Given the description of an element on the screen output the (x, y) to click on. 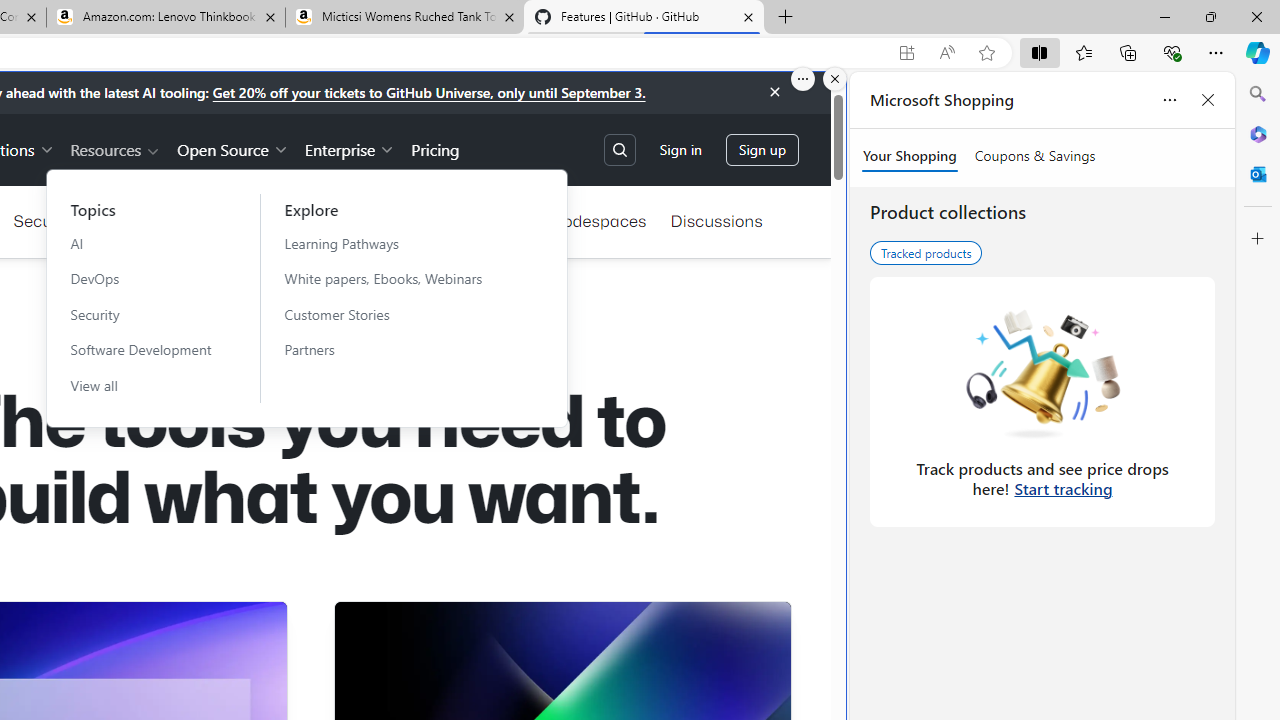
Codespaces (598, 220)
App available. Install  (906, 53)
Sign up (761, 149)
View all (141, 385)
Customer Stories (395, 313)
AI (141, 243)
DevOps (141, 278)
